Given the description of an element on the screen output the (x, y) to click on. 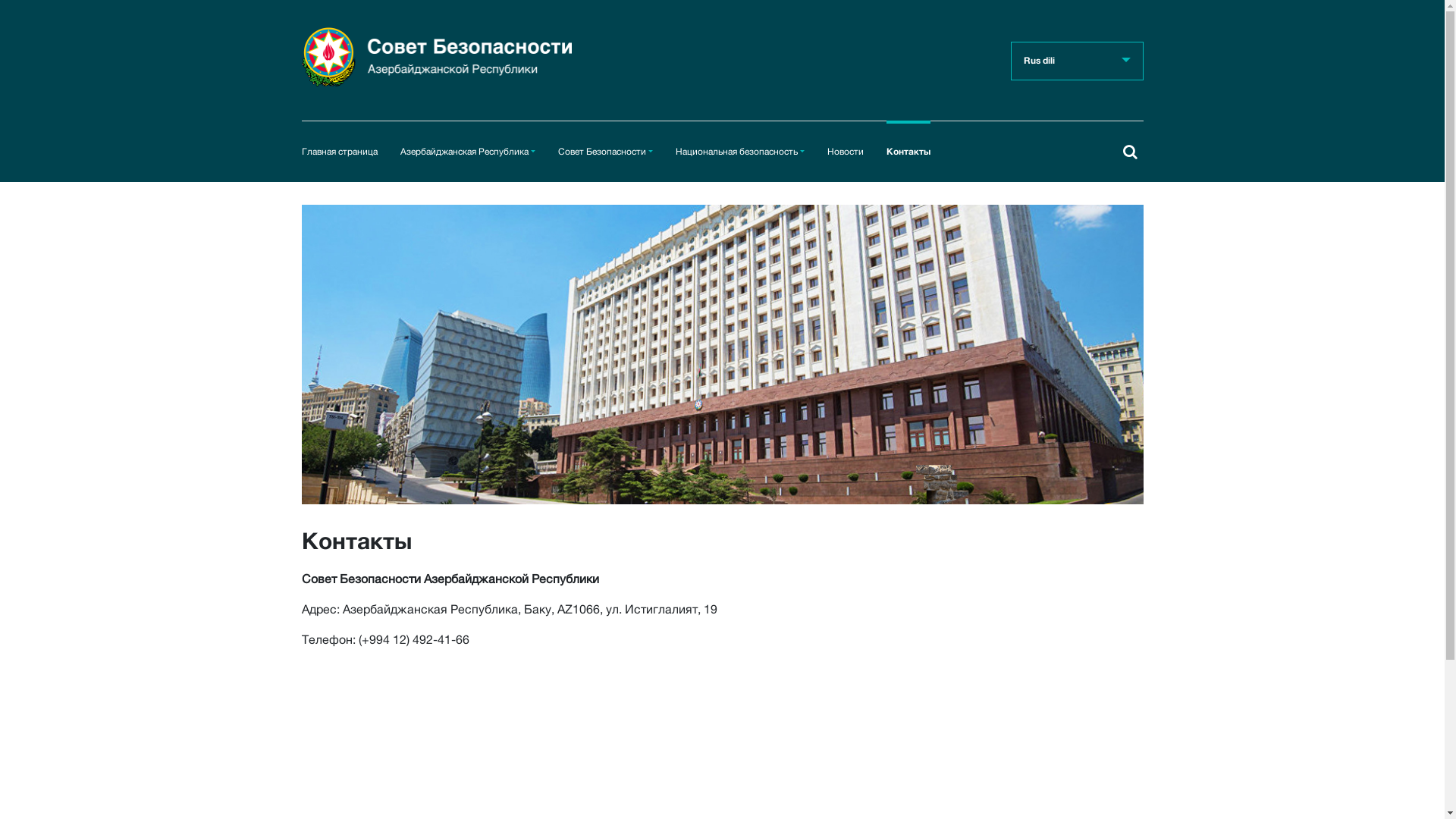
Rus dili Element type: text (1076, 60)
